Given the description of an element on the screen output the (x, y) to click on. 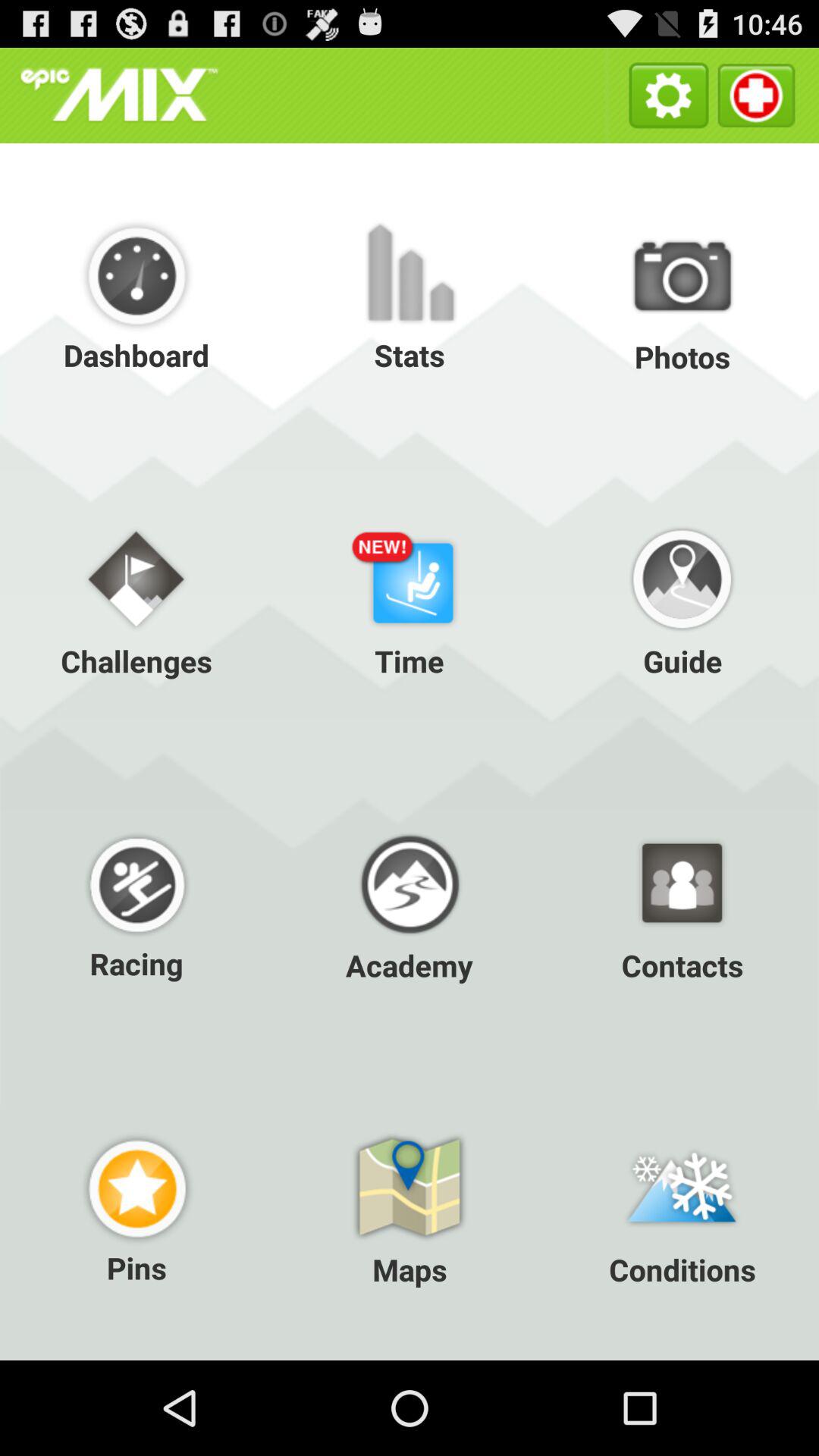
launch icon above academy icon (409, 599)
